Given the description of an element on the screen output the (x, y) to click on. 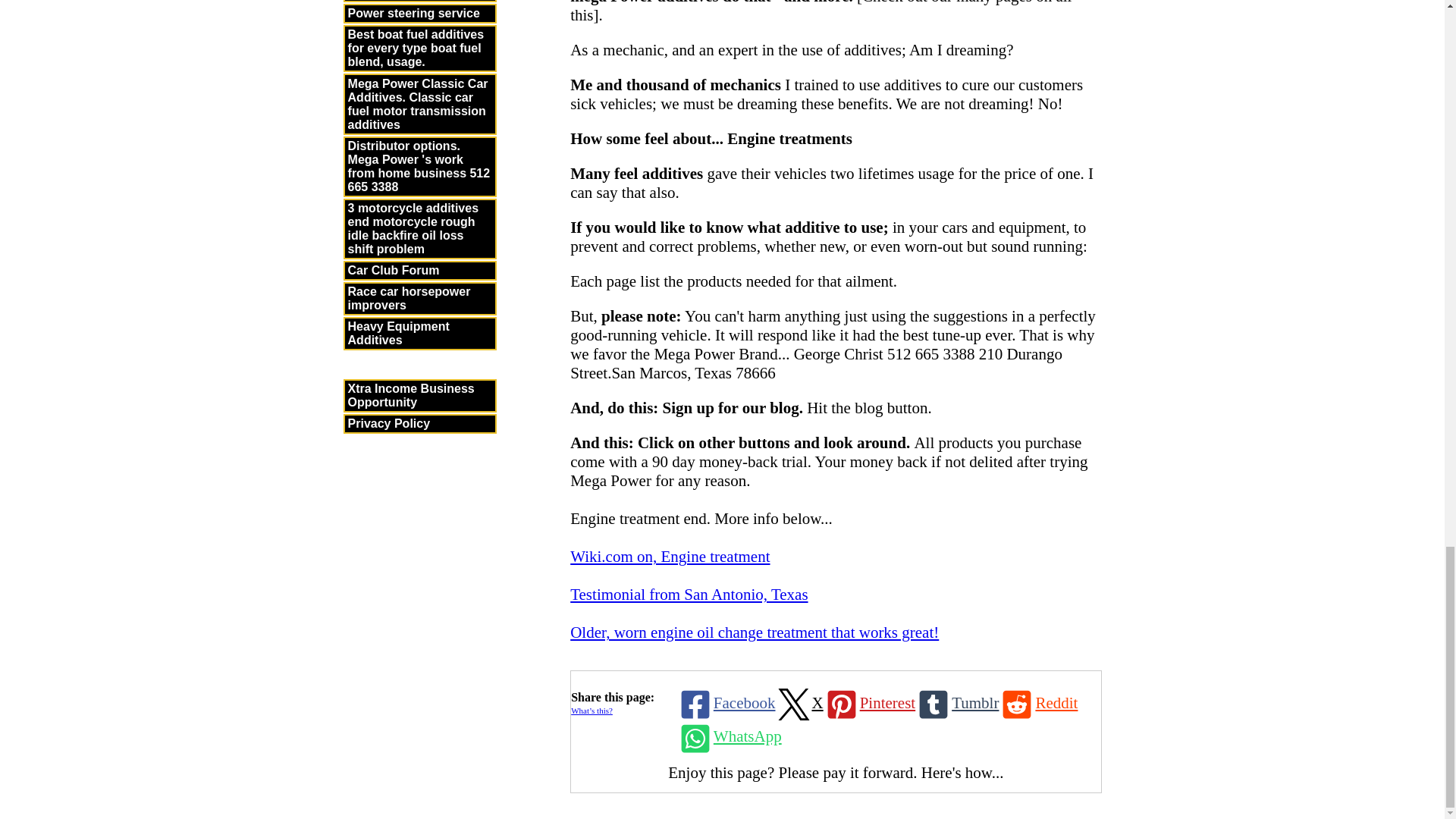
Heavy Equipment Additives (419, 333)
Race car horsepower improvers (419, 298)
Xtra Income Business Opportunity (419, 395)
Power steering service (419, 13)
Car Club Forum (419, 270)
